Given the description of an element on the screen output the (x, y) to click on. 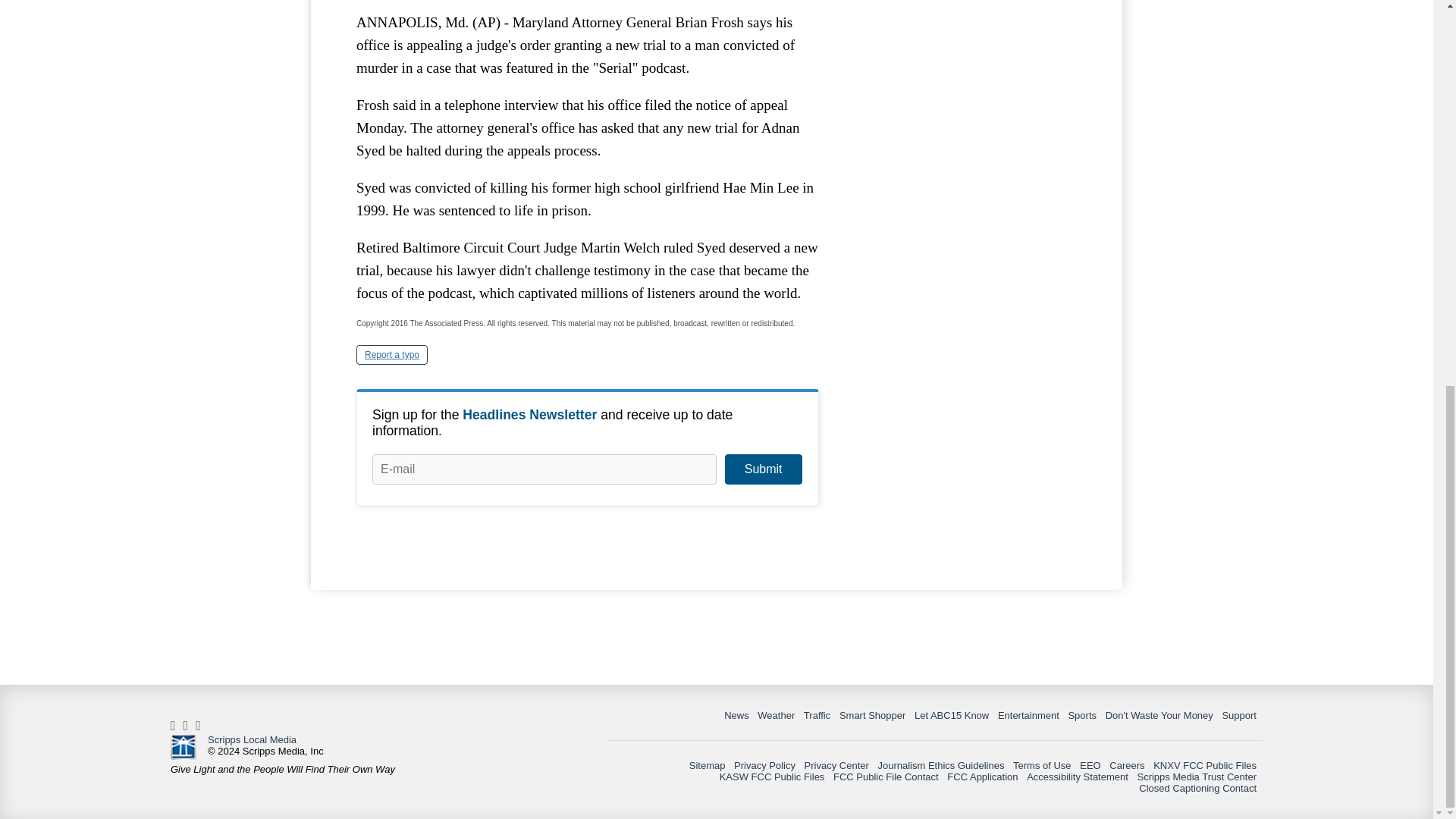
Submit (763, 469)
